Given the description of an element on the screen output the (x, y) to click on. 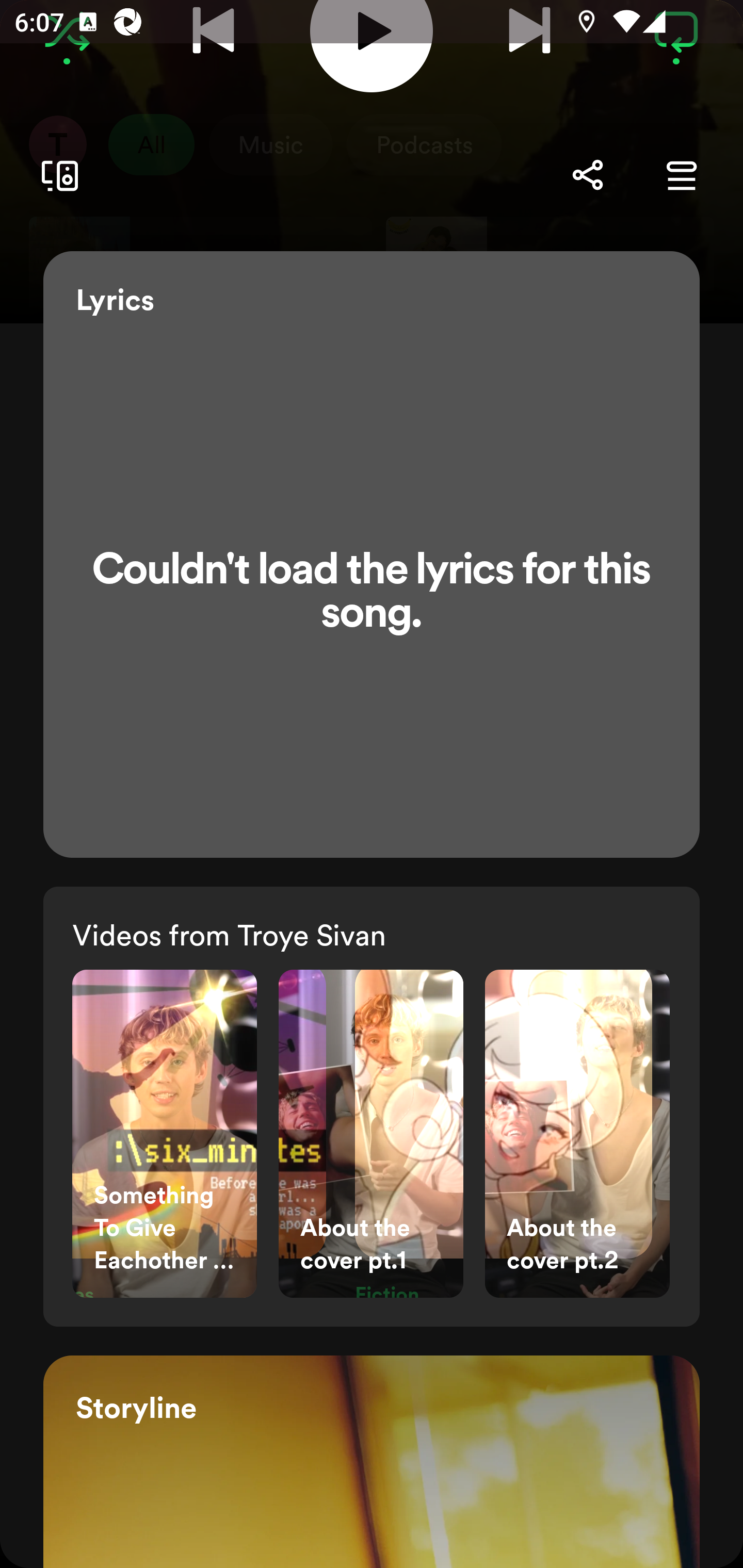
Stop shuffling tracks (66, 34)
Previous (212, 38)
Play (371, 46)
Next (529, 38)
Repeat (676, 34)
Share (587, 175)
Go to Queue (681, 175)
Connect to a device. Opens the devices menu (55, 175)
Something To Give Eachother is out now!! (164, 1133)
About the cover pt.1 (370, 1133)
About the cover pt.2 (577, 1133)
